Given the description of an element on the screen output the (x, y) to click on. 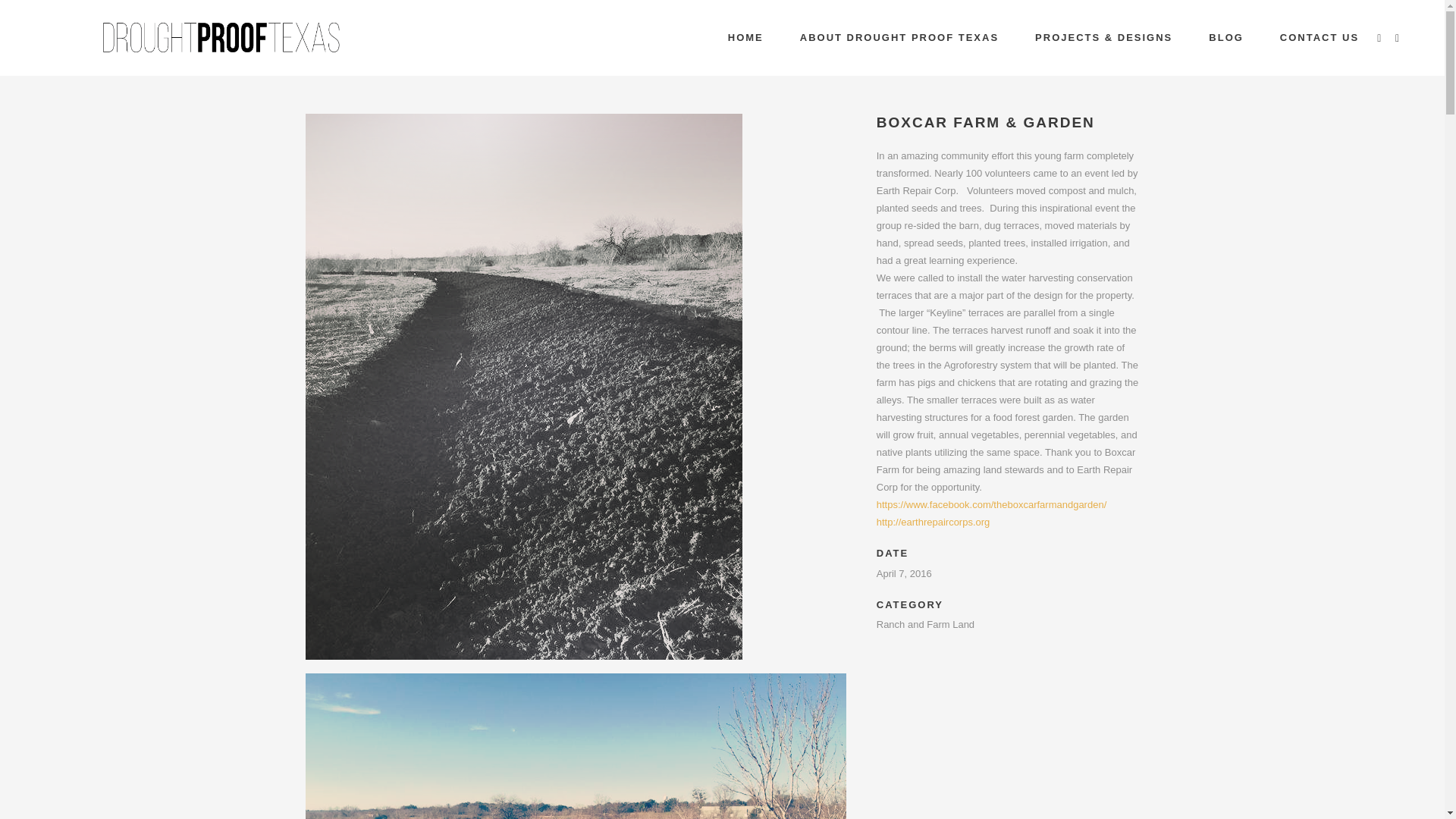
BLOG (1226, 38)
ABOUT DROUGHT PROOF TEXAS (898, 38)
CONTACT US (1319, 38)
HOME (745, 38)
